Given the description of an element on the screen output the (x, y) to click on. 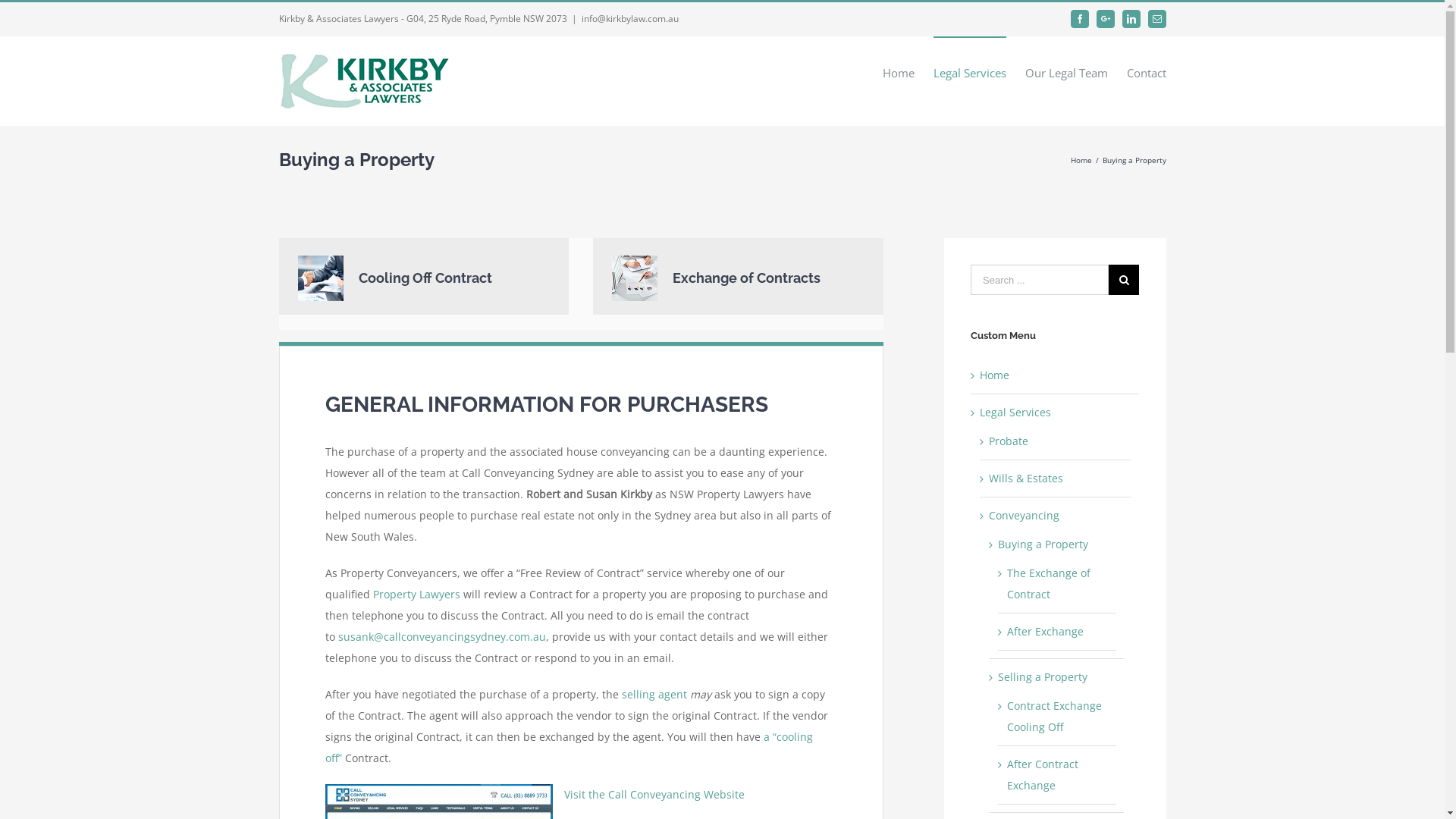
Contact Element type: text (1146, 72)
Our Legal Team Element type: text (1066, 72)
Linkedin Element type: text (1131, 18)
After Exchange Element type: text (1045, 631)
Property Lawyers Element type: text (416, 593)
Conveyancing Element type: text (1023, 515)
Wills & Estates Element type: text (1025, 477)
info@kirkbylaw.com.au Element type: text (628, 18)
selling agent Element type: text (654, 694)
Legal Services Element type: text (968, 72)
Contract Exchange Cooling Off Element type: text (1054, 716)
susank@callconveyancingsydney.com.au Element type: text (442, 636)
Home Element type: text (898, 72)
After Contract Exchange Element type: text (1042, 774)
Selling a Property Element type: text (1042, 676)
Visit the Call Conveyancing Website Element type: text (654, 794)
Legal Services Element type: text (1015, 411)
Facebook Element type: text (1079, 18)
Email Element type: text (1157, 18)
Home Element type: text (1081, 159)
Google+ Element type: text (1105, 18)
The Exchange of Contract Element type: text (1048, 583)
Home Element type: text (994, 374)
Buying a Property Element type: text (1042, 543)
Probate Element type: text (1008, 440)
